Given the description of an element on the screen output the (x, y) to click on. 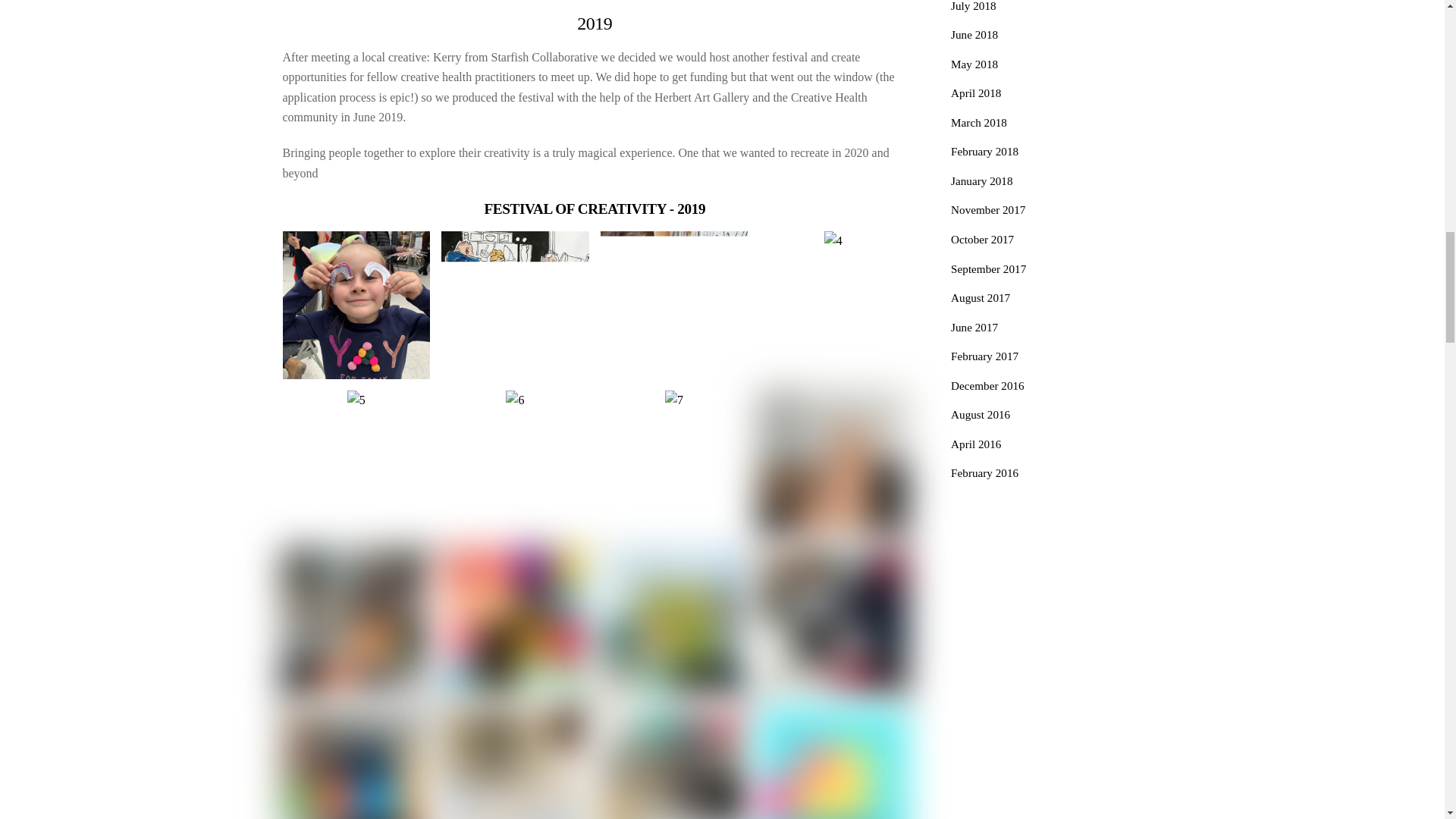
5 (356, 400)
rainbows! (355, 304)
3 (673, 304)
2 (515, 304)
4 (833, 240)
